Given the description of an element on the screen output the (x, y) to click on. 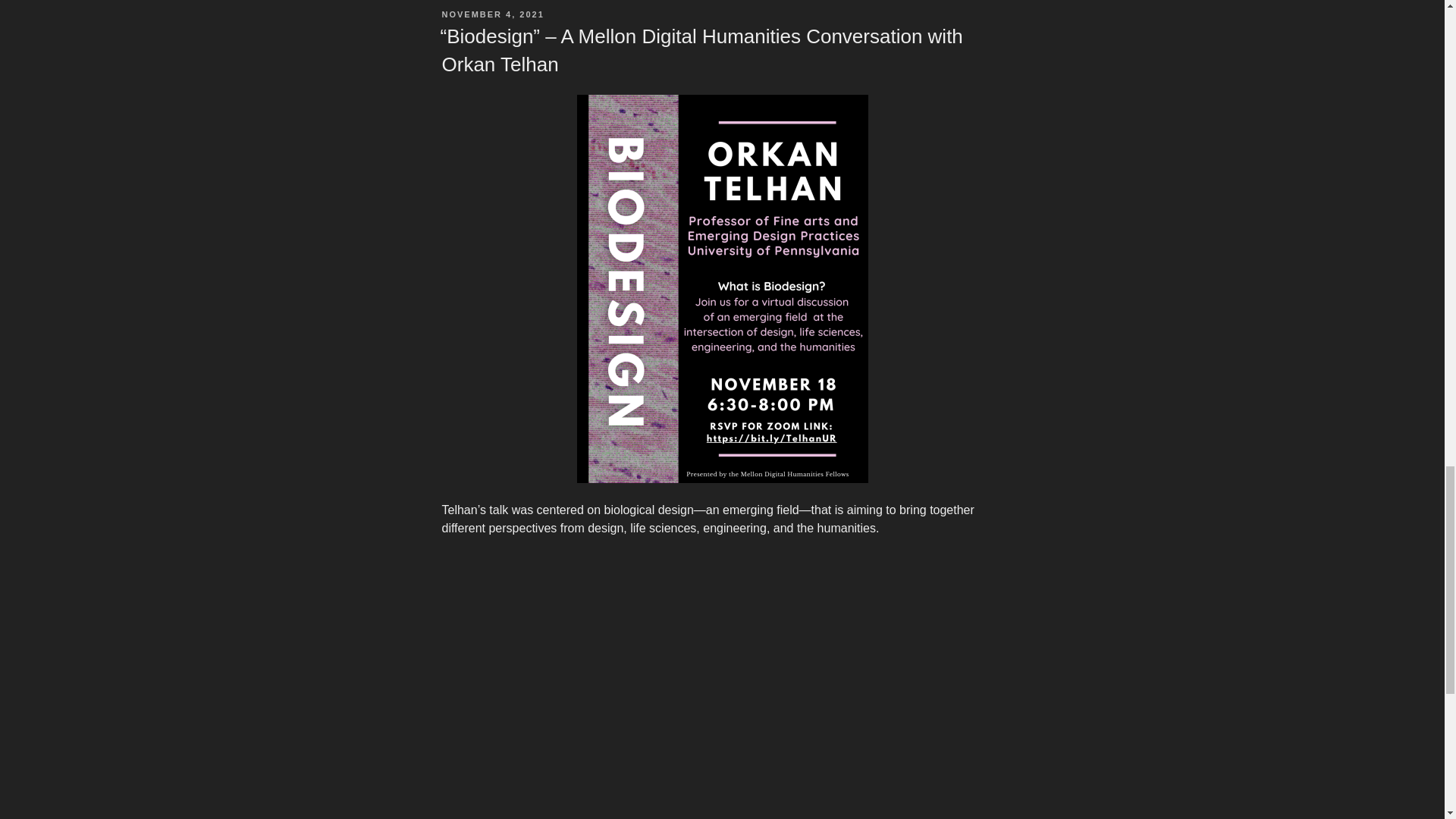
NOVEMBER 4, 2021 (492, 13)
